Given the description of an element on the screen output the (x, y) to click on. 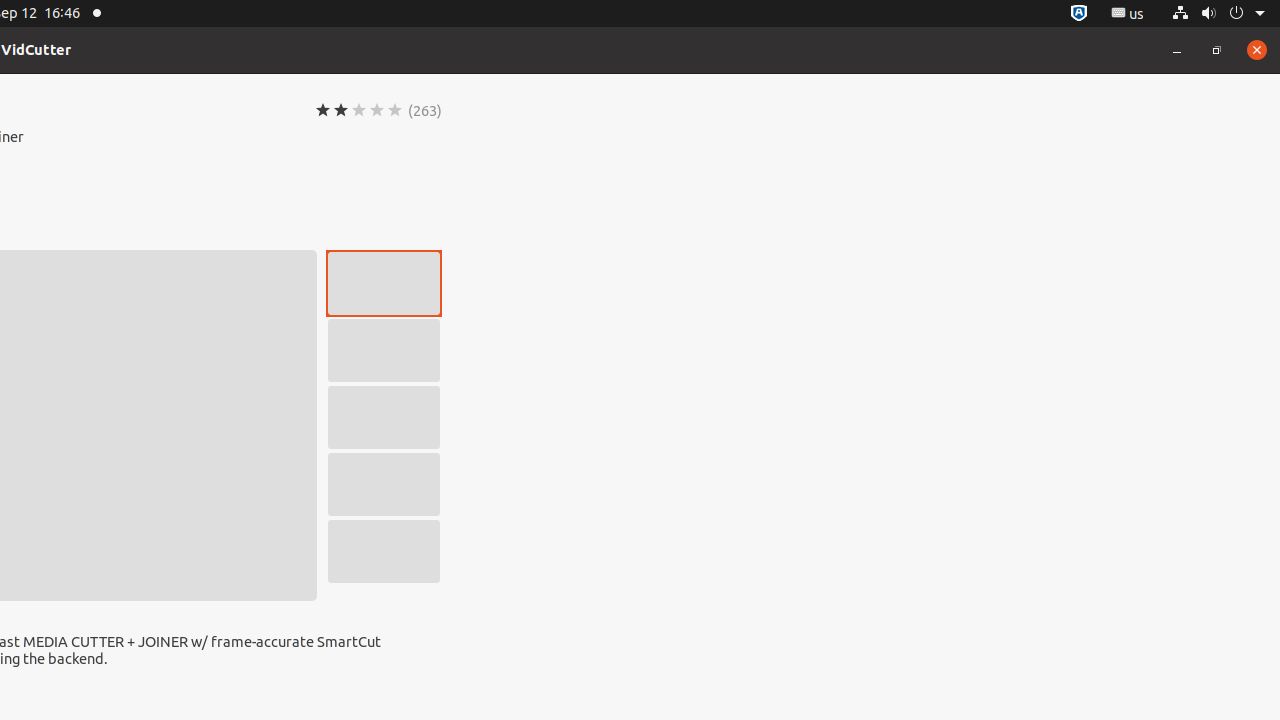
(263) Element type: label (425, 110)
Minimize Element type: push-button (1177, 50)
